Given the description of an element on the screen output the (x, y) to click on. 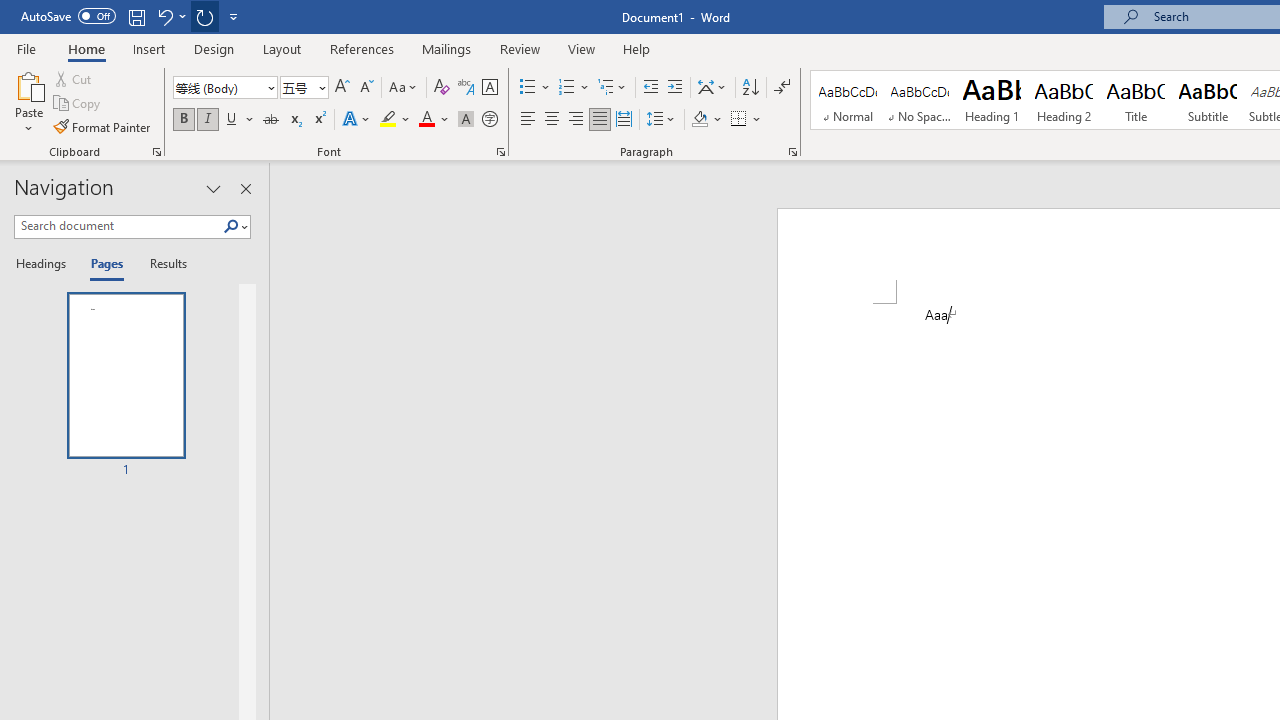
Search document (118, 226)
Font (218, 87)
Undo Style (170, 15)
Class: NetUIImage (231, 226)
Shading RGB(0, 0, 0) (699, 119)
Customize Quick Access Toolbar (234, 15)
Distributed (623, 119)
Enclose Characters... (489, 119)
Font Size (297, 87)
Save (136, 15)
Font Size (304, 87)
References (362, 48)
Subscript (294, 119)
Sort... (750, 87)
